Given the description of an element on the screen output the (x, y) to click on. 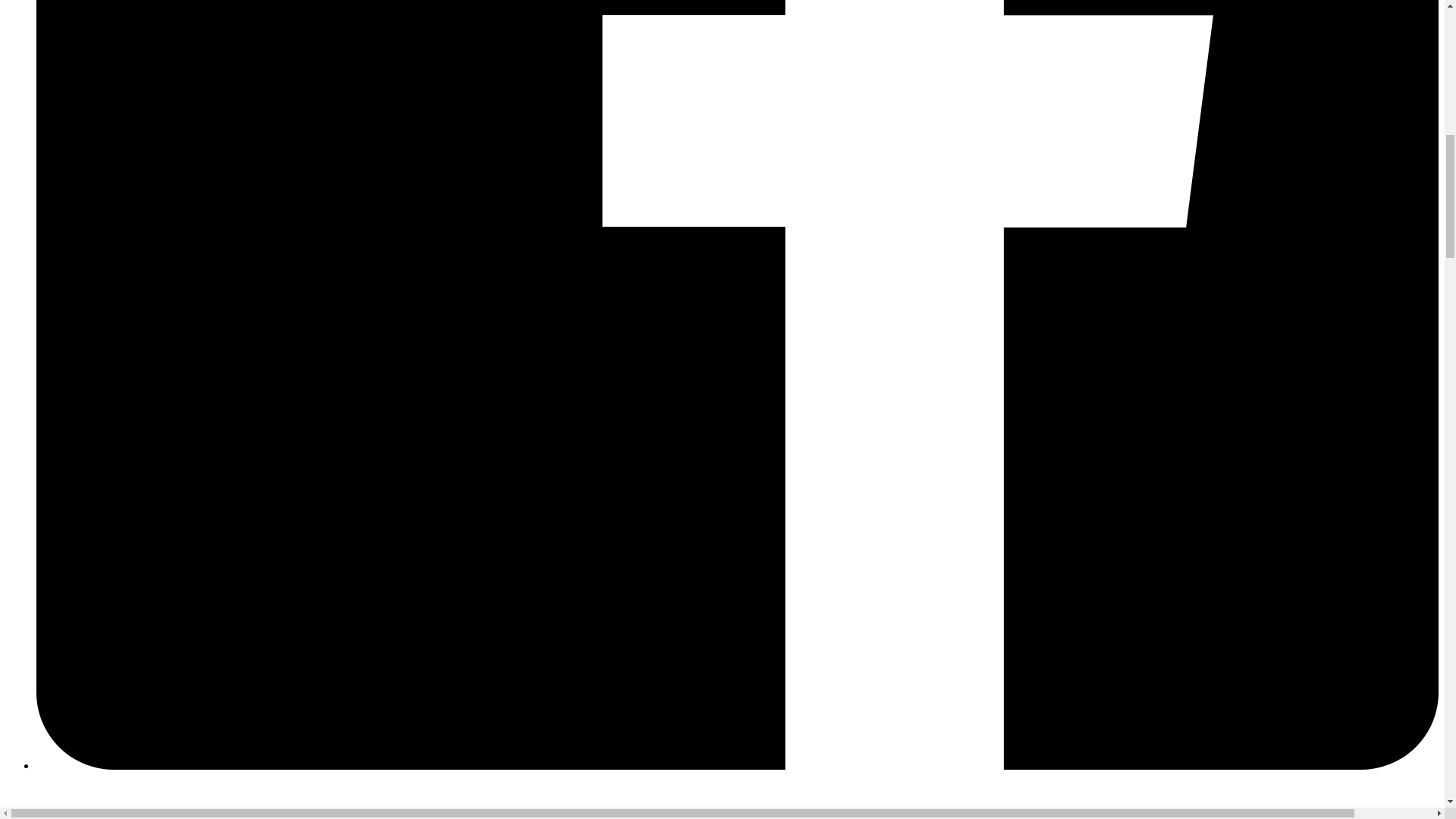
Vimeo (737, 796)
